Given the description of an element on the screen output the (x, y) to click on. 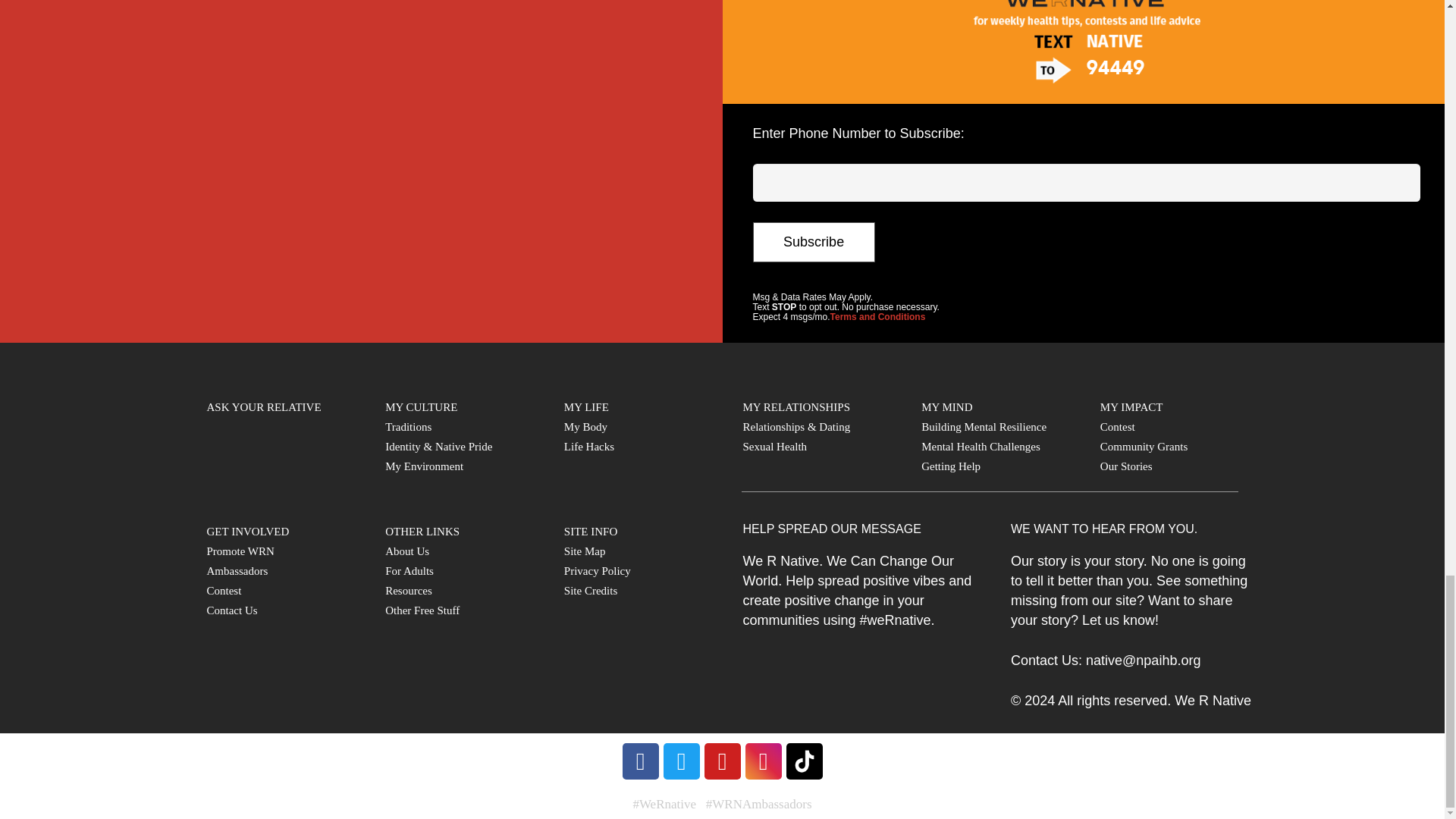
twitter (680, 760)
fb:page Facebook Social Plugin (358, 167)
twitter (681, 761)
youtube (721, 760)
facebook (640, 761)
Subscribe (813, 241)
facebook (639, 760)
